Given the description of an element on the screen output the (x, y) to click on. 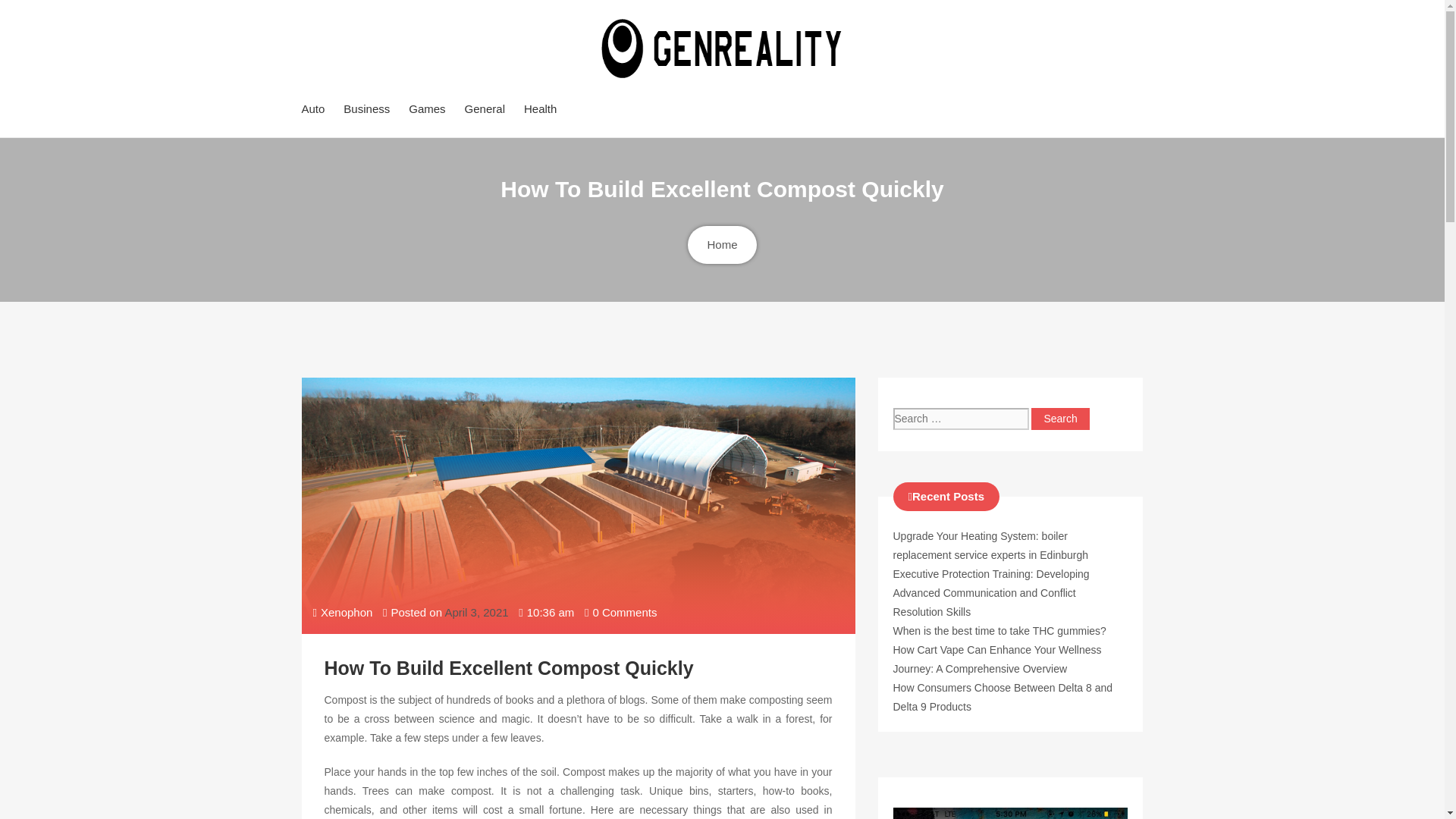
General (484, 108)
Home (721, 244)
Games (427, 108)
Auto (312, 108)
Gen Reality (449, 118)
How Consumers Choose Between Delta 8 and Delta 9 Products (1003, 696)
Health (540, 108)
April 3, 2021 (476, 612)
